Given the description of an element on the screen output the (x, y) to click on. 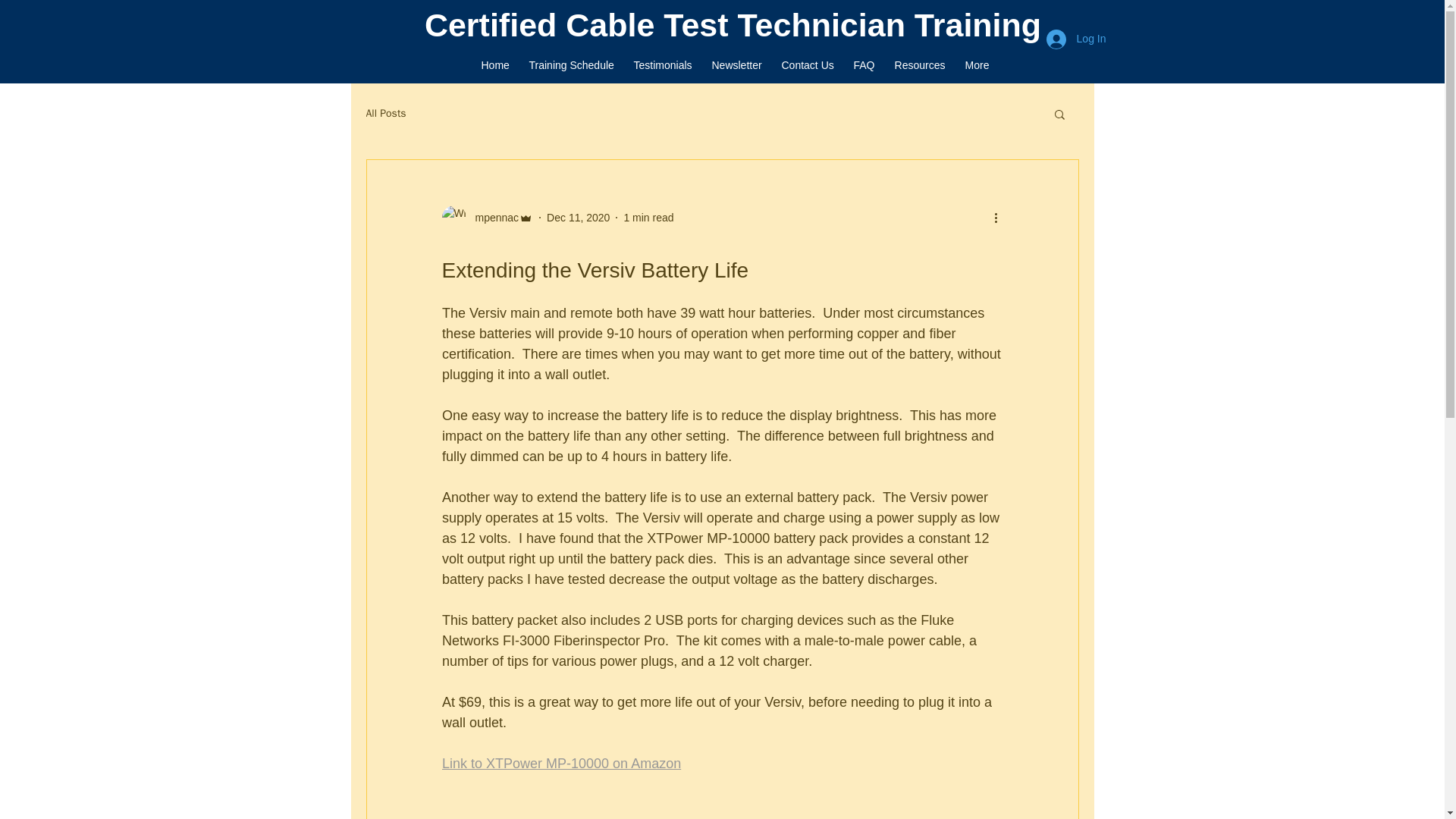
Testimonials (662, 64)
mpennac (486, 217)
Contact Us (807, 64)
Dec 11, 2020 (578, 216)
Link to XTPower MP-10000 on Amazon (560, 763)
Resources (919, 64)
Newsletter (736, 64)
All Posts (385, 113)
mpennac (491, 217)
Home (495, 64)
1 min read (647, 216)
FAQ (863, 64)
Log In (1075, 39)
